Given the description of an element on the screen output the (x, y) to click on. 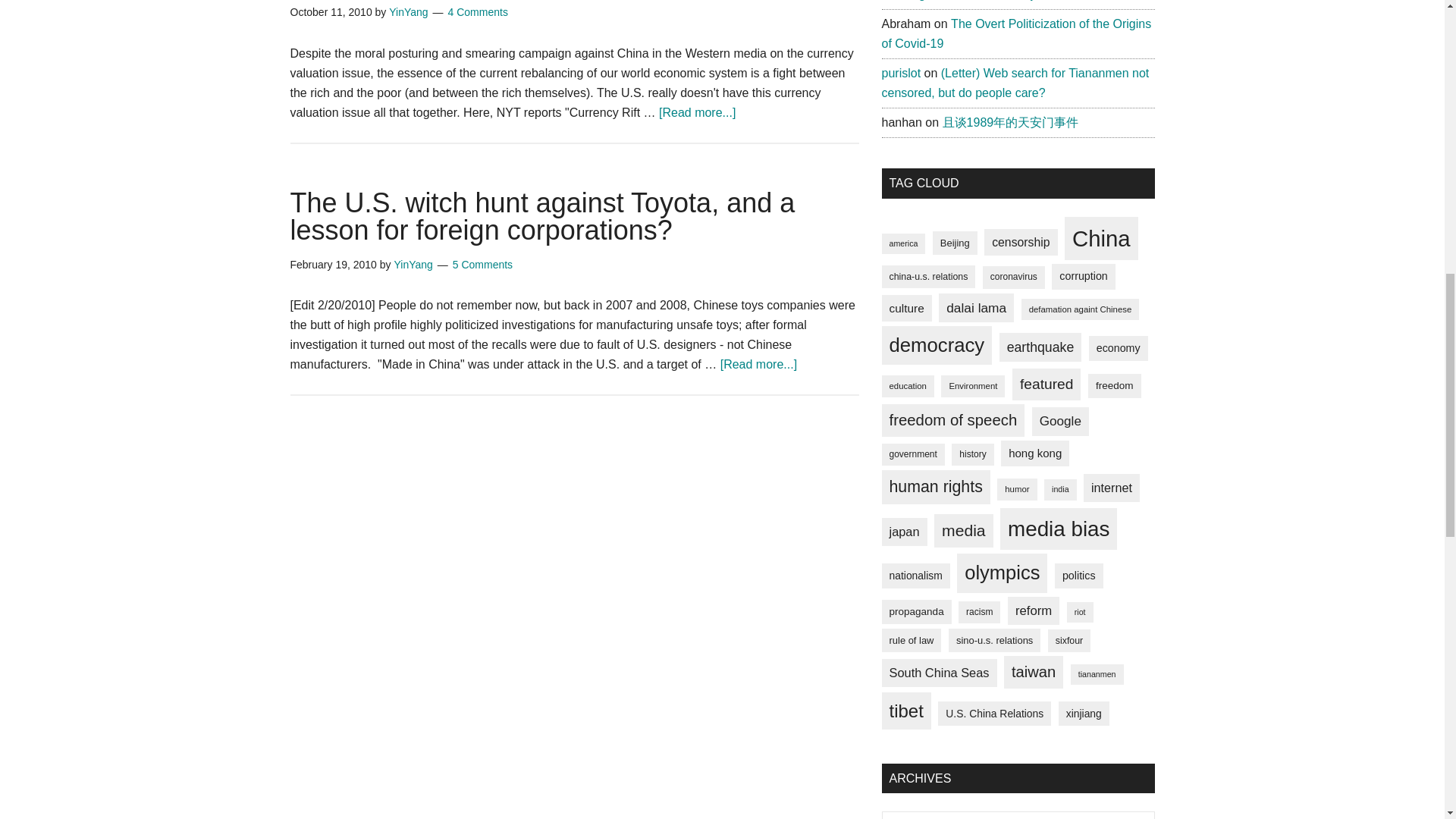
america (902, 243)
YinYang (408, 11)
YinYang (412, 264)
5 Comments (482, 264)
Beijing (954, 242)
China (1101, 239)
purislot (900, 72)
The Overt Politicization of the Origins of Covid-19 (1015, 33)
4 Comments (478, 11)
censorship (1020, 242)
